Given the description of an element on the screen output the (x, y) to click on. 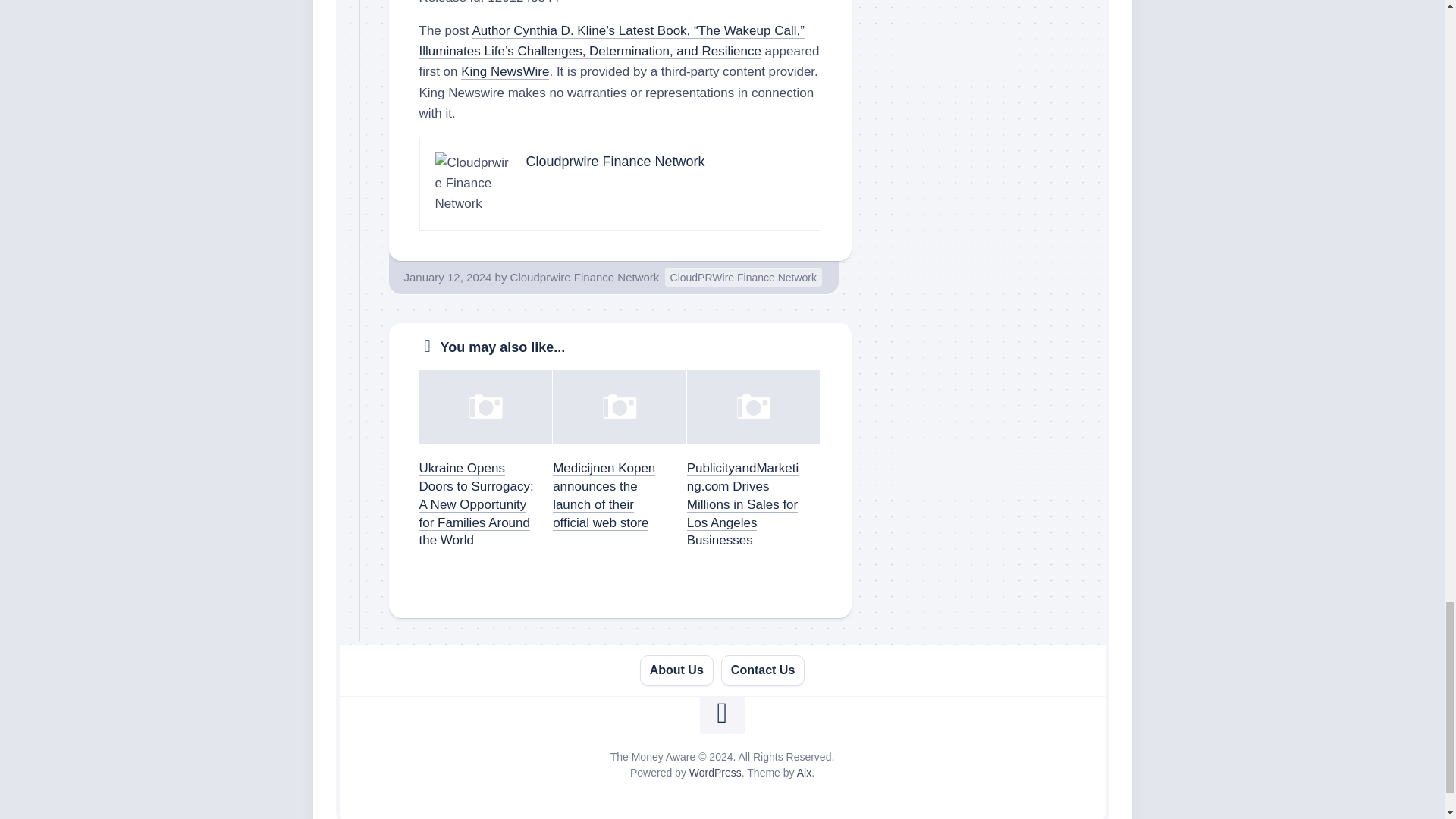
About Us (676, 669)
Contact Us (762, 669)
Cloudprwire Finance Network (614, 160)
CloudPRWire Finance Network (743, 277)
Posts by Cloudprwire Finance Network (585, 276)
King NewsWire (504, 71)
Cloudprwire Finance Network (585, 276)
